Given the description of an element on the screen output the (x, y) to click on. 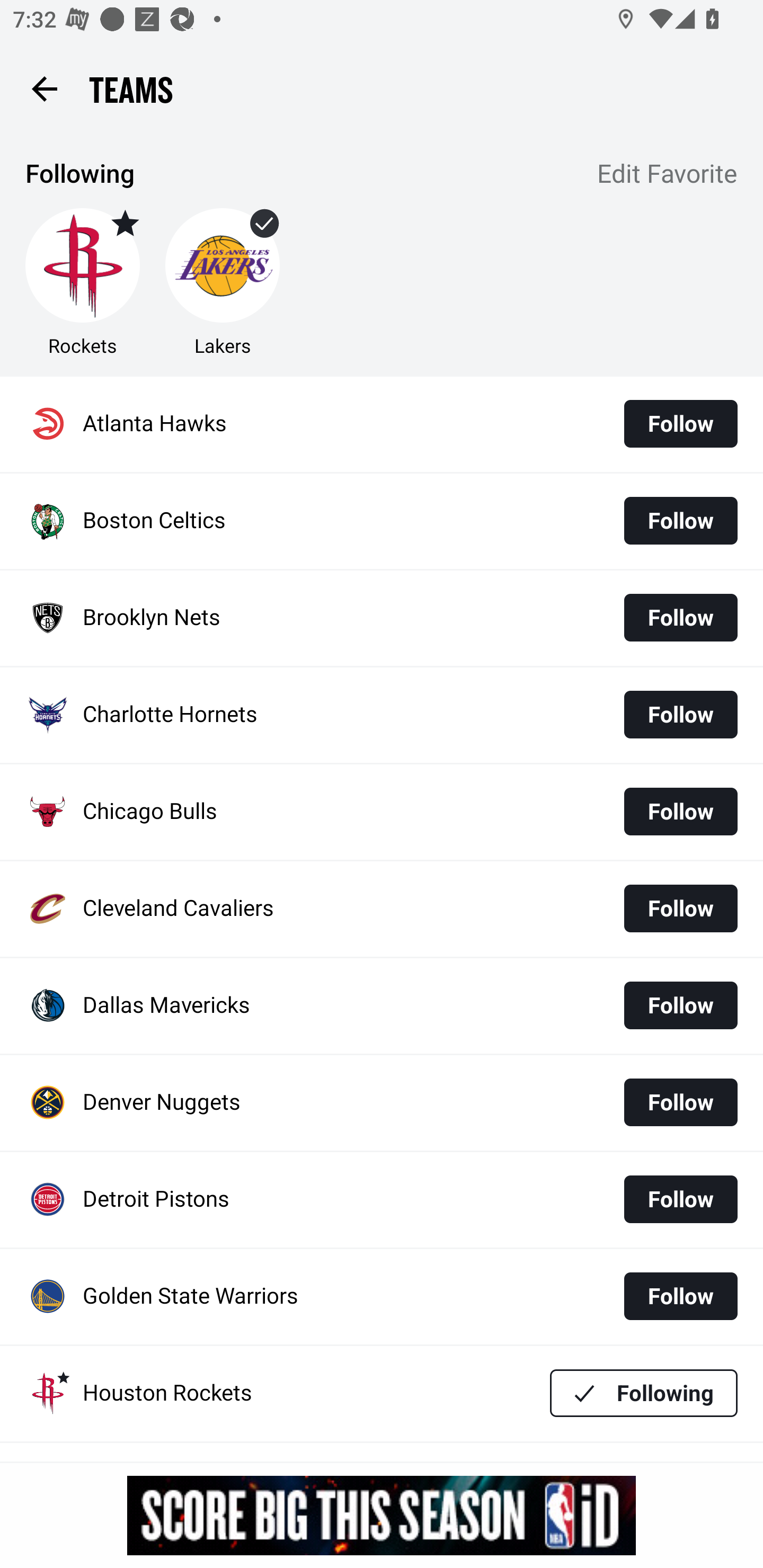
Back button (44, 88)
Edit Favorite (667, 175)
Atlanta Hawks Follow (381, 423)
Follow (680, 423)
Boston Celtics Follow (381, 521)
Follow (680, 520)
Brooklyn Nets Follow (381, 618)
Follow (680, 617)
Charlotte Hornets Follow (381, 714)
Follow (680, 713)
Chicago Bulls Follow (381, 812)
Follow (680, 811)
Cleveland Cavaliers Follow (381, 908)
Follow (680, 908)
Dallas Mavericks Follow (381, 1005)
Follow (680, 1005)
Denver Nuggets Follow (381, 1102)
Follow (680, 1101)
Detroit Pistons Follow (381, 1200)
Follow (680, 1199)
Golden State Warriors Follow (381, 1296)
Follow (680, 1295)
Houston Rockets Following (381, 1392)
Following (643, 1392)
g5nqqygr7owph (381, 1515)
